Given the description of an element on the screen output the (x, y) to click on. 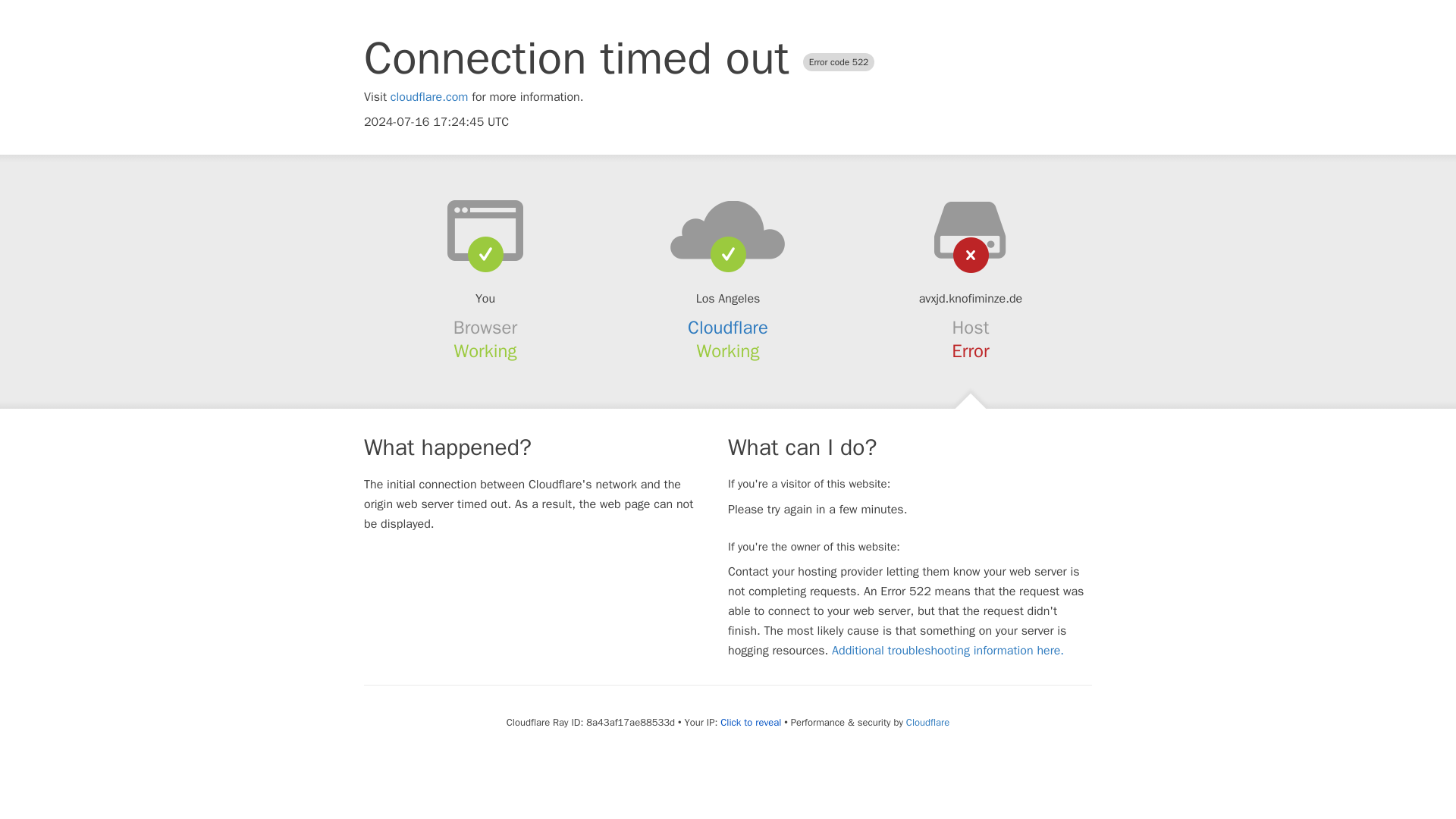
cloudflare.com (429, 96)
Cloudflare (727, 327)
Additional troubleshooting information here. (947, 650)
Click to reveal (750, 722)
Cloudflare (927, 721)
